Given the description of an element on the screen output the (x, y) to click on. 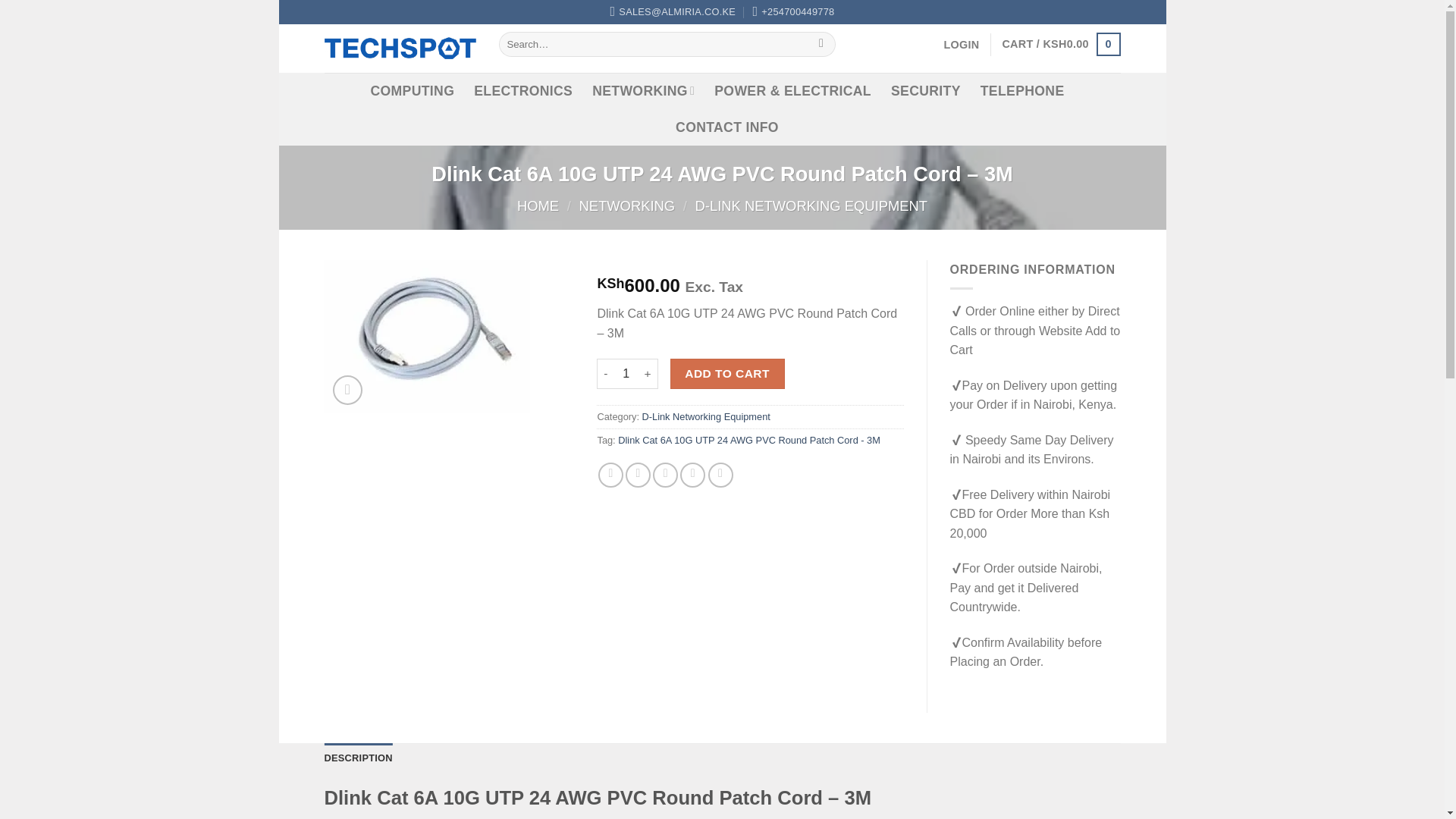
DESCRIPTION (358, 757)
Dlink Cat 6A 10G UTP 24 AWG PVC Round Patch Cord - 3M (748, 439)
Search (821, 44)
Techspot Kenya - Online Shopping Centre (400, 47)
Share on LinkedIn (720, 474)
D-Link Networking Equipment (706, 416)
COMPUTING (412, 90)
Share on Twitter (638, 474)
Zoom (347, 389)
ELECTRONICS (523, 90)
